Given the description of an element on the screen output the (x, y) to click on. 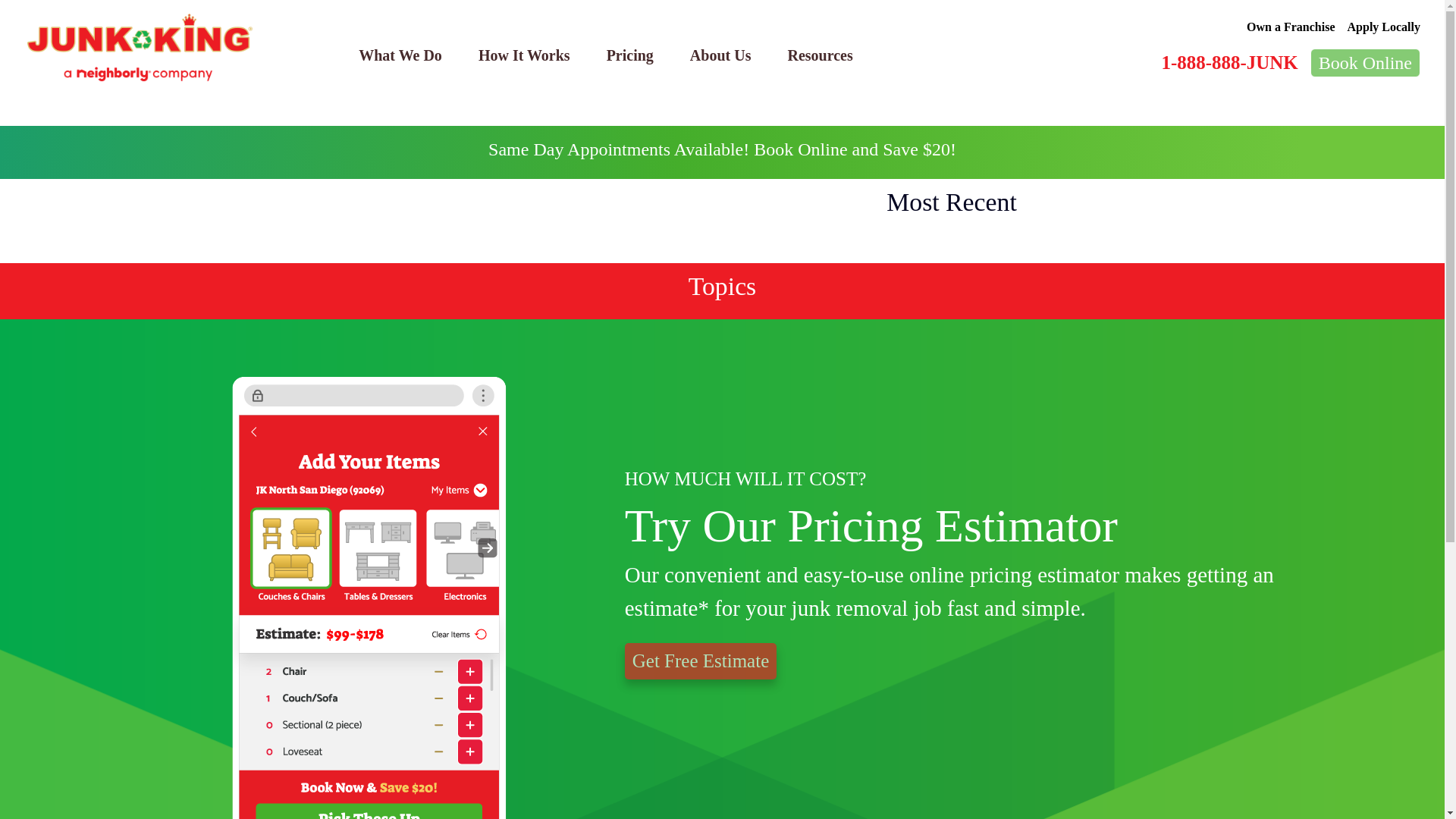
Own a Franchise (1290, 27)
1-888-888-JUNK (1228, 62)
What We Do (400, 54)
How It Works (524, 54)
Blog Content Section (421, 220)
Pricing (629, 54)
Resources (819, 54)
Junk King (139, 47)
Apply Locally (1384, 27)
Banner Pane (721, 152)
About Us (720, 54)
Book Online (1365, 62)
